Given the description of an element on the screen output the (x, y) to click on. 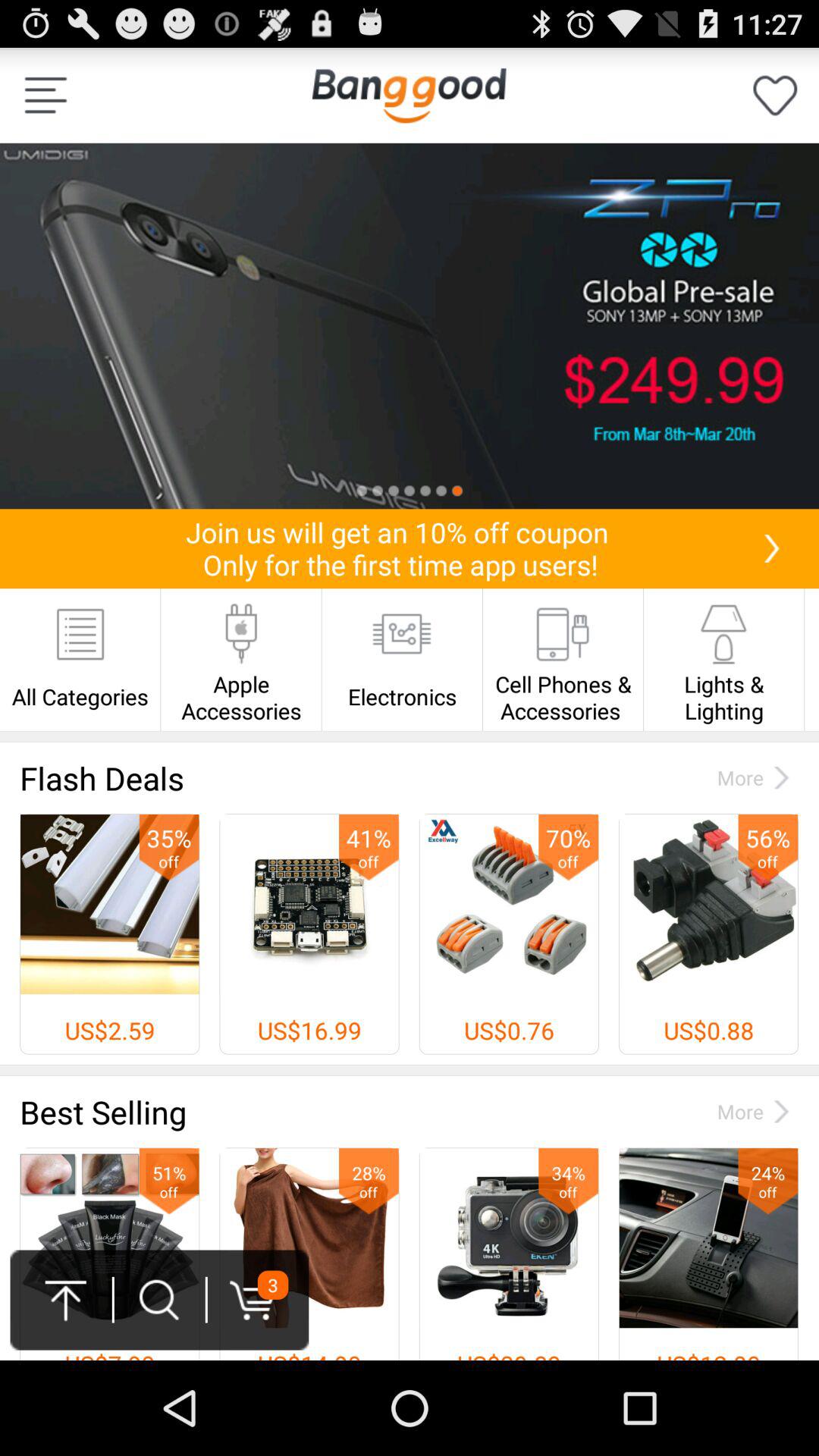
go to favorite (775, 95)
